Given the description of an element on the screen output the (x, y) to click on. 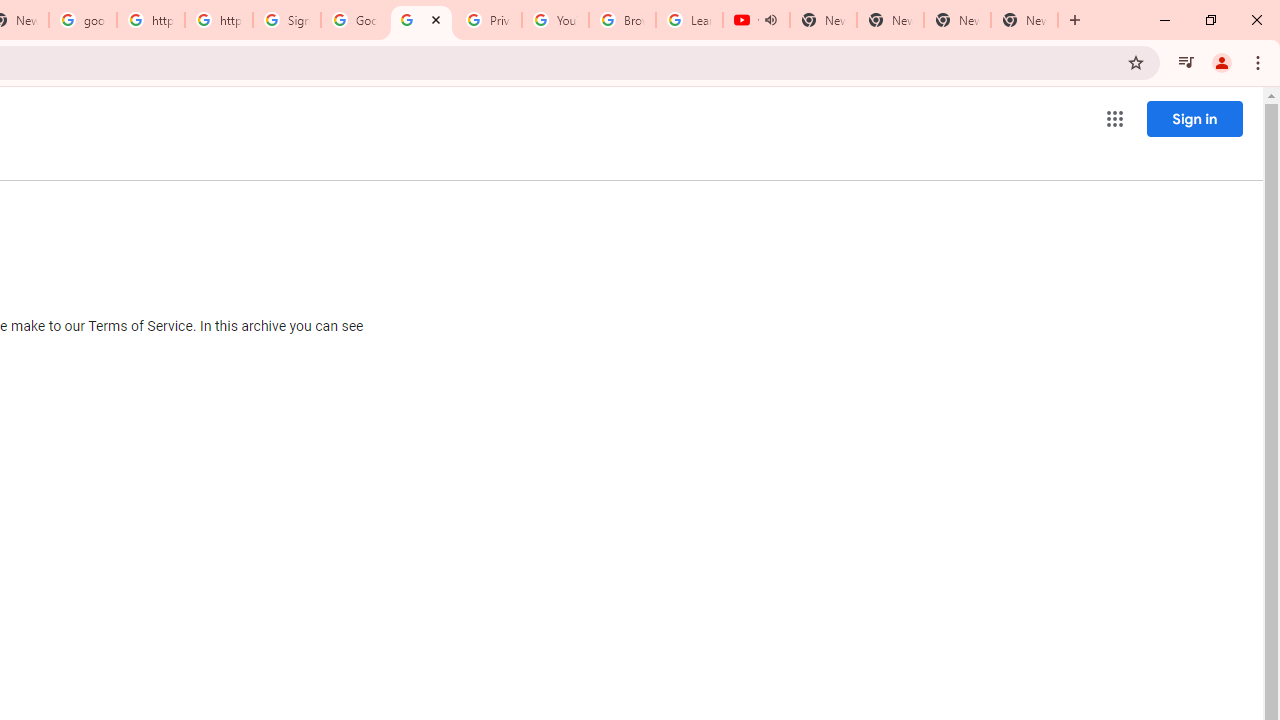
Mute tab (770, 20)
https://scholar.google.com/ (150, 20)
Sign in - Google Accounts (287, 20)
Browse Chrome as a guest - Computer - Google Chrome Help (622, 20)
YouTube (555, 20)
Control your music, videos, and more (1185, 62)
